Given the description of an element on the screen output the (x, y) to click on. 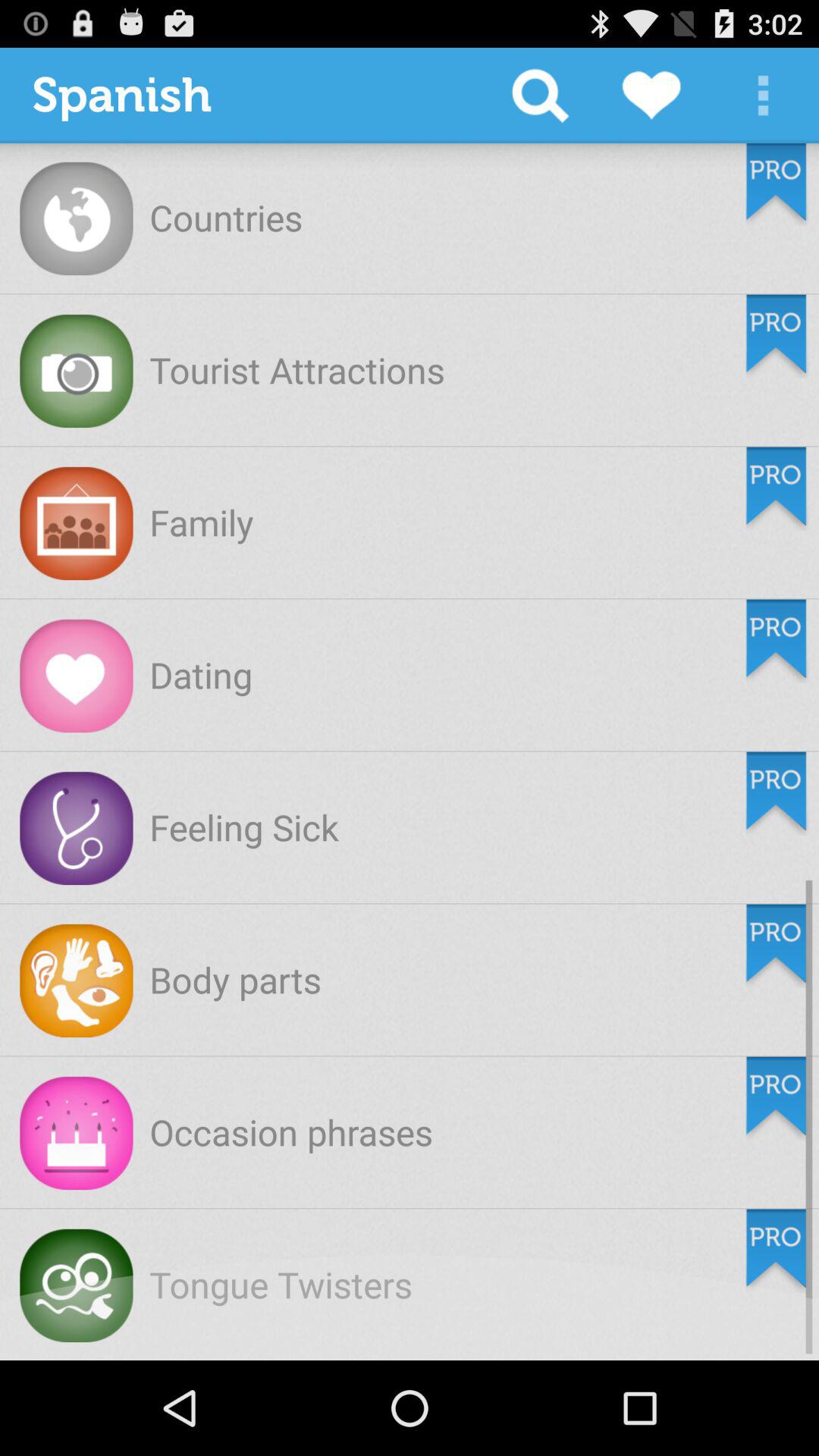
click the tourist attractions (296, 369)
